Given the description of an element on the screen output the (x, y) to click on. 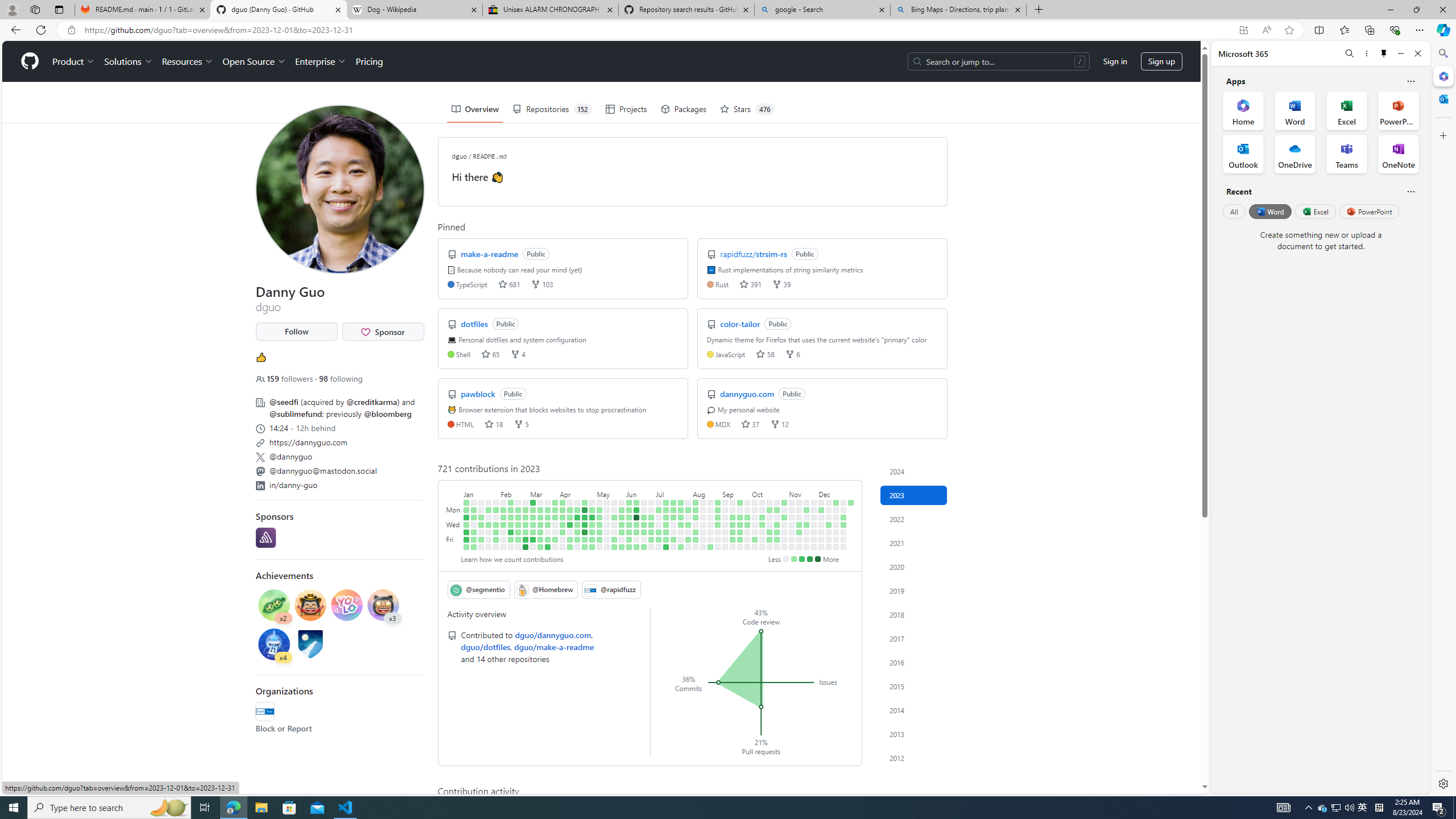
No contributions on November 17th. (799, 539)
2 contributions on September 15th. (732, 539)
3 contributions on May 23rd. (614, 517)
Contribution activity in 2018 (913, 614)
No contributions on August 5th. (688, 546)
No contributions on May 13th. (599, 546)
 @Homebrew (545, 588)
4 contributions on February 6th. (503, 509)
1 contribution on January 2nd. (466, 509)
1 contribution on October 16th. (770, 509)
8 contributions on May 1st. (592, 509)
https://dannyguo.com (338, 440)
2 contributions on August 30th. (717, 524)
No contributions on July 20th. (674, 531)
1 contribution on May 10th. (599, 524)
